Given the description of an element on the screen output the (x, y) to click on. 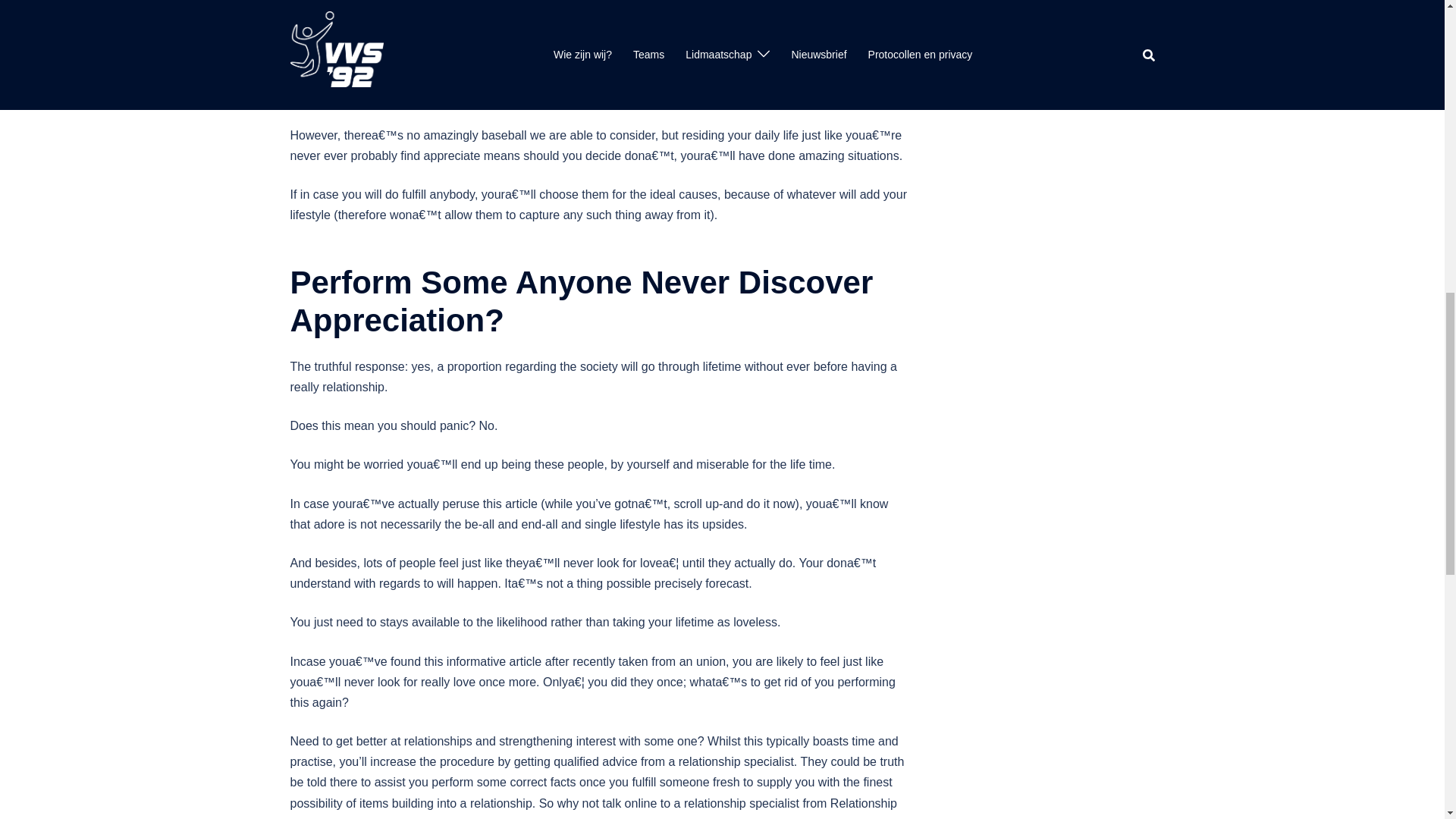
mature quality singles discount code (440, 75)
